Given the description of an element on the screen output the (x, y) to click on. 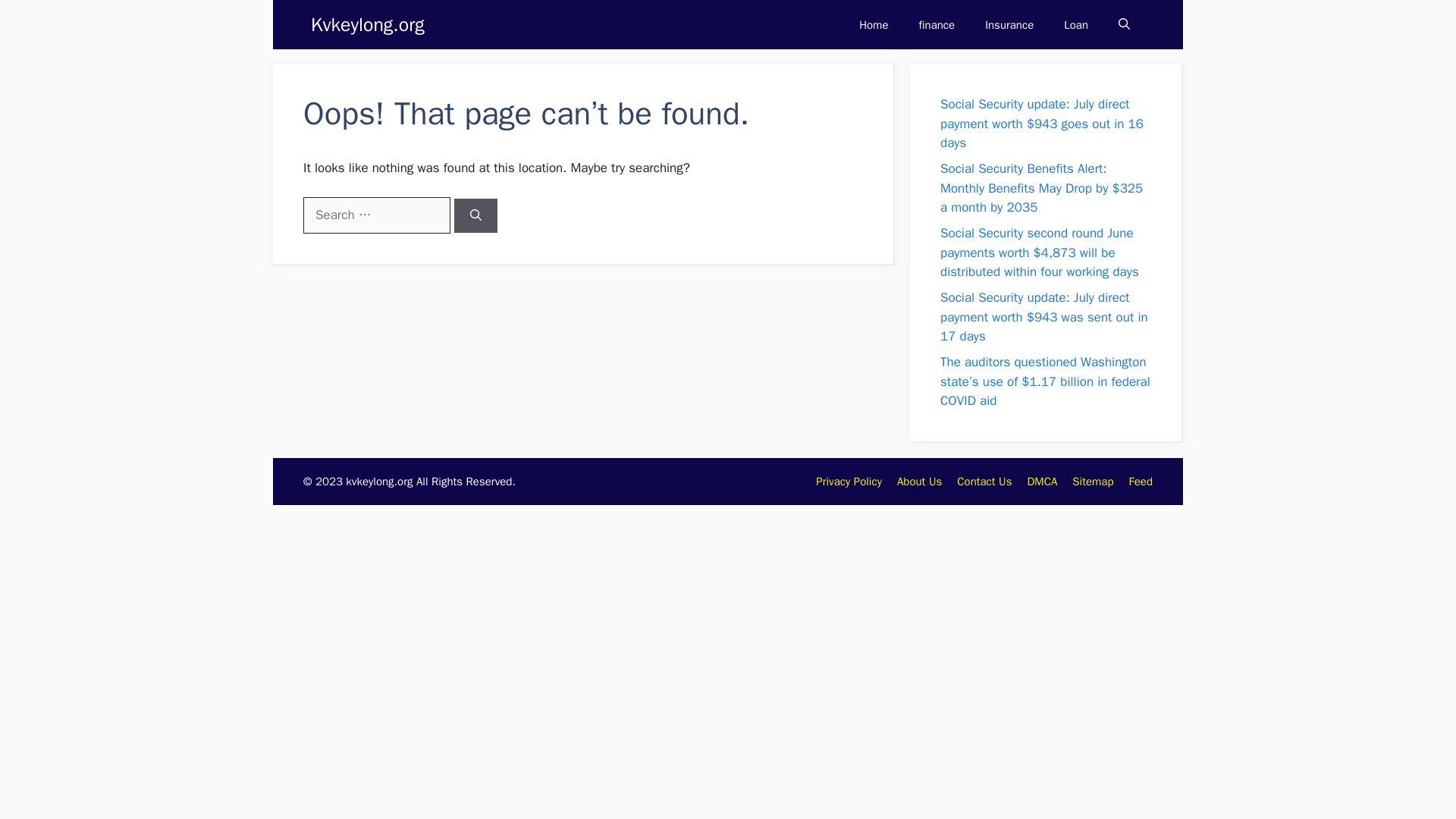
DMCA (1041, 481)
Insurance (1008, 23)
Sitemap (1092, 481)
Search for: (375, 215)
finance (937, 23)
Privacy Policy (848, 481)
Home (873, 23)
Kvkeylong.org (368, 24)
Feed (1141, 481)
Loan (1075, 23)
Contact Us (983, 481)
About Us (919, 481)
